Given the description of an element on the screen output the (x, y) to click on. 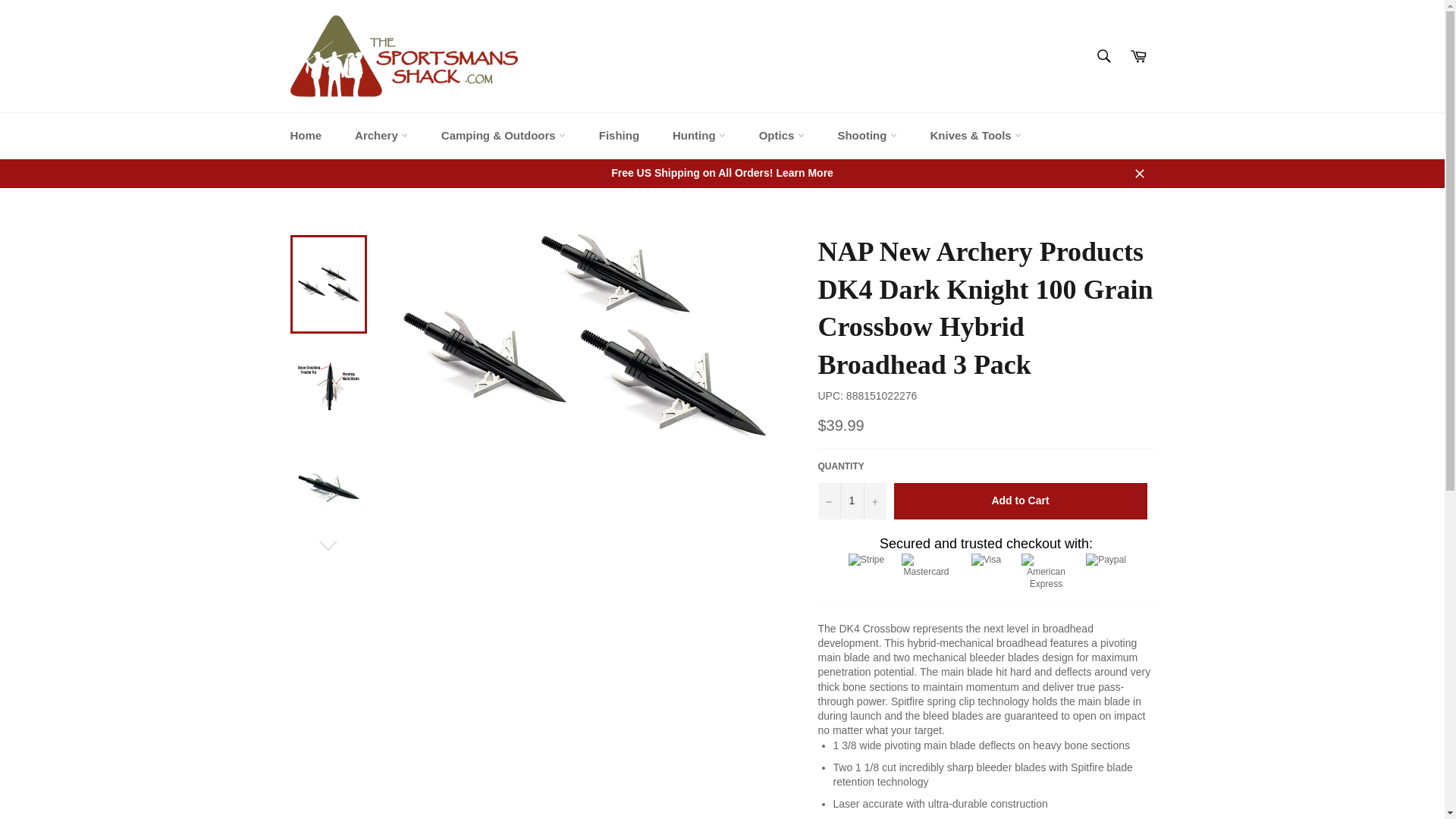
Search (1103, 56)
1 (850, 501)
